Given the description of an element on the screen output the (x, y) to click on. 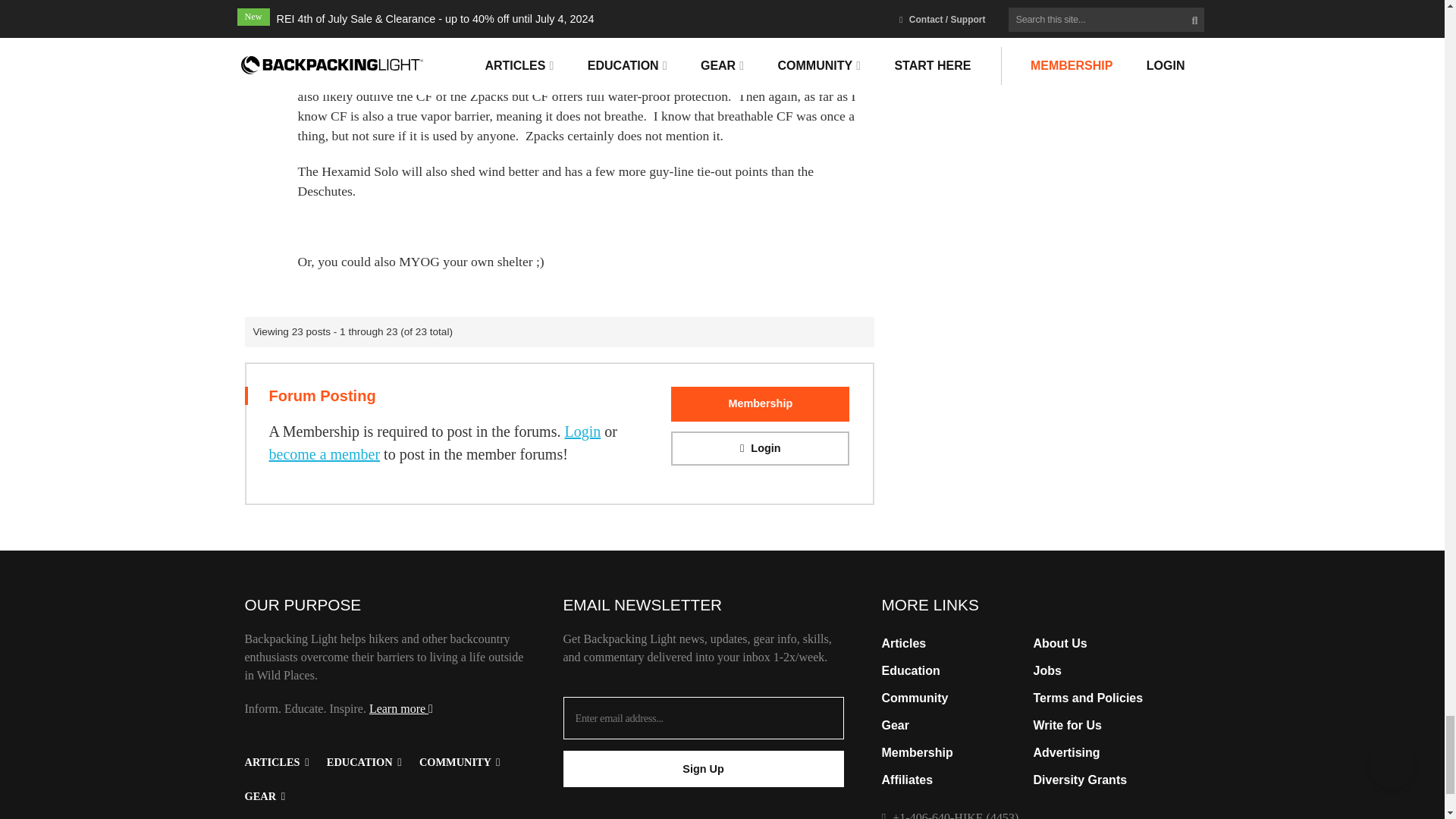
Sign Up (702, 769)
